Given the description of an element on the screen output the (x, y) to click on. 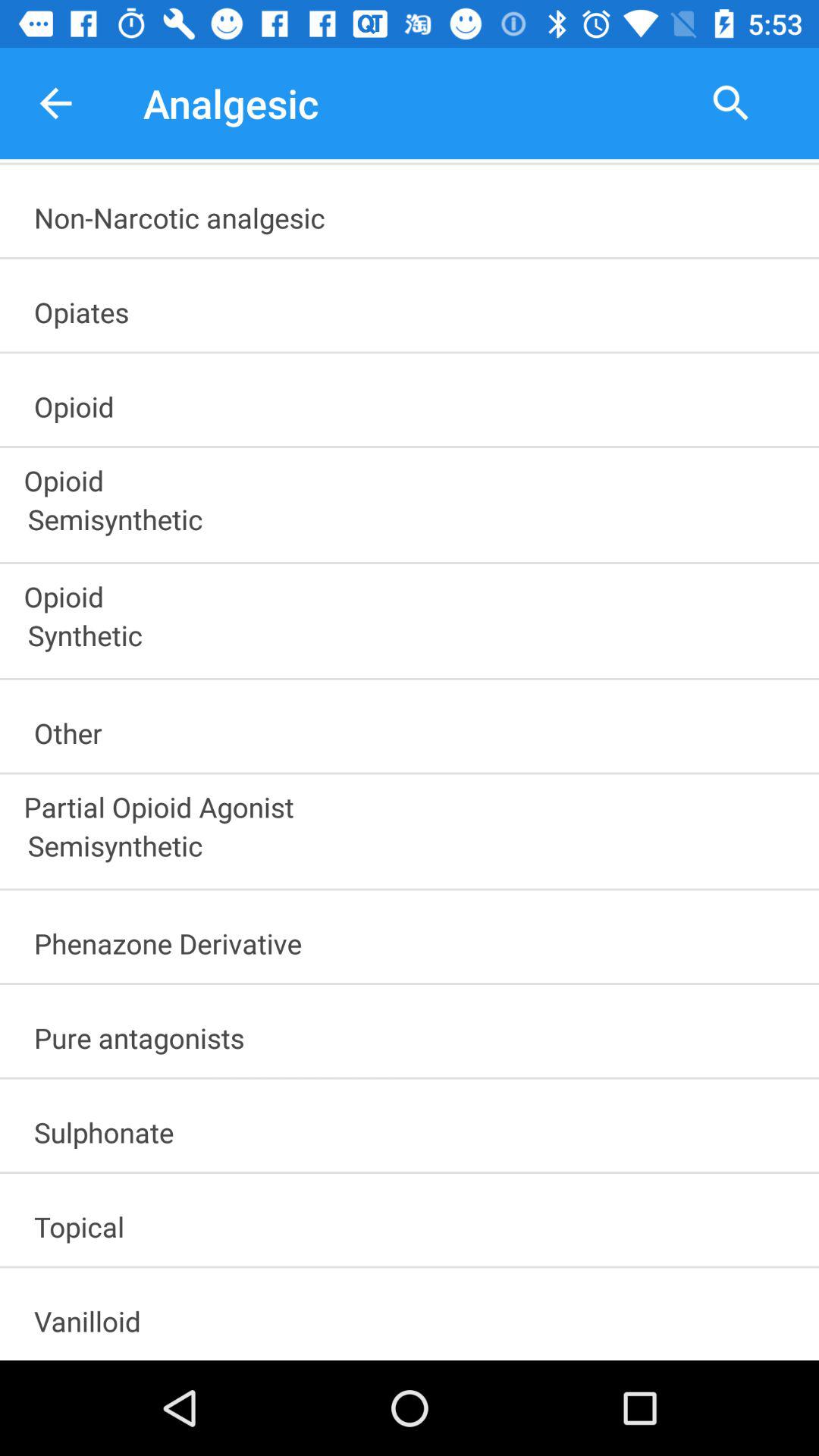
turn off the sulphonate item (416, 1127)
